Given the description of an element on the screen output the (x, y) to click on. 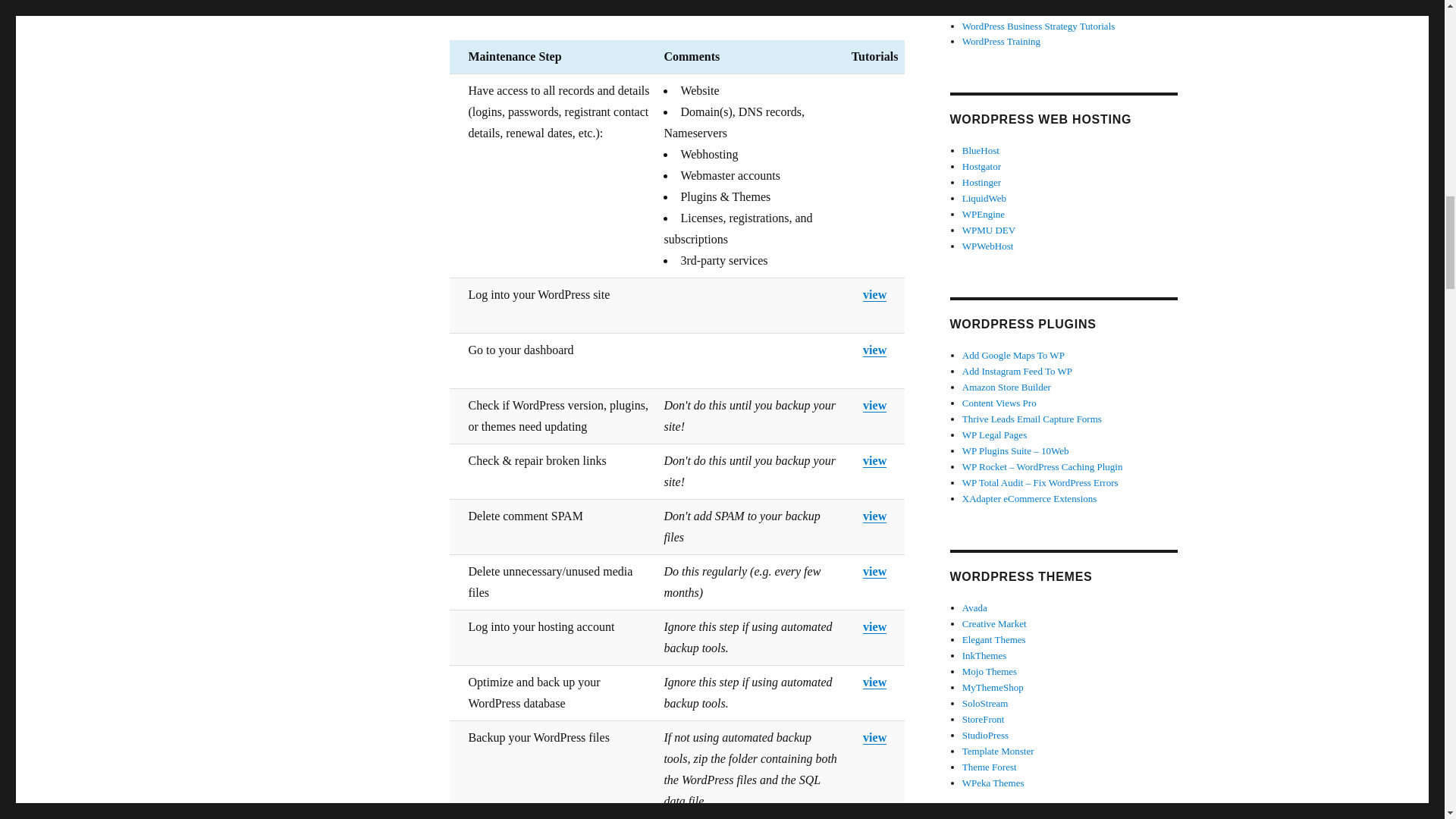
LiquidWeb (984, 197)
Add a Google map to your WordPress website! (1013, 355)
view (874, 349)
view (874, 515)
BlueHost (980, 150)
Display WordPress content in amazing layouts without coding! (999, 402)
view (874, 460)
Hostgator (981, 165)
view (874, 681)
Build your mailing list faster! (1032, 419)
view (874, 404)
view (874, 571)
WordPress Hosting (981, 182)
view (874, 626)
view (874, 294)
